Given the description of an element on the screen output the (x, y) to click on. 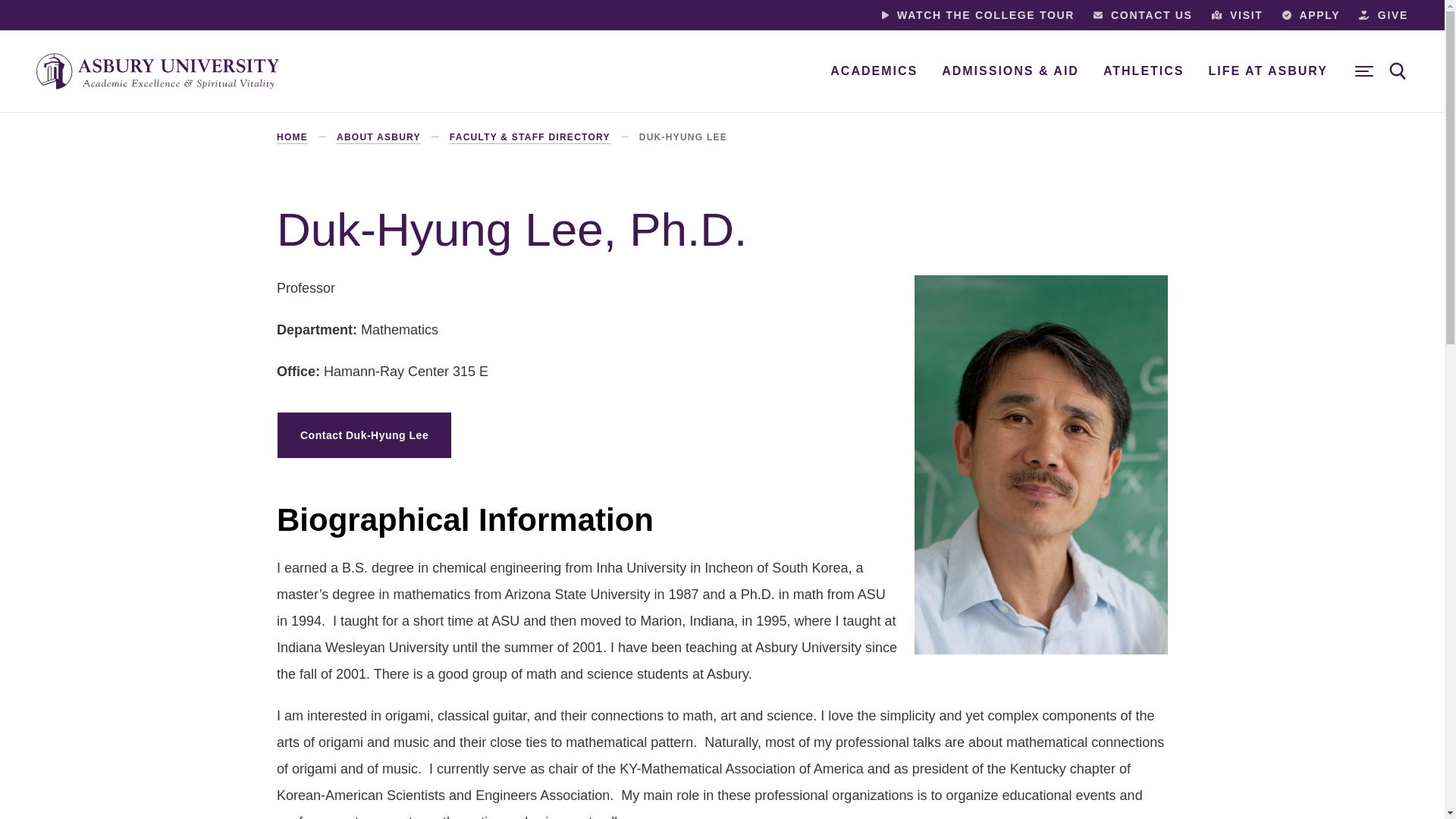
WATCH THE COLLEGE TOUR (978, 15)
VISIT (1237, 15)
APPLY (1311, 15)
ACADEMICS (873, 70)
HOME (291, 138)
Search (1398, 71)
LIFE AT ASBURY (1267, 70)
Asbury University (157, 71)
ATHLETICS (1144, 70)
ABOUT ASBURY (378, 138)
